Given the description of an element on the screen output the (x, y) to click on. 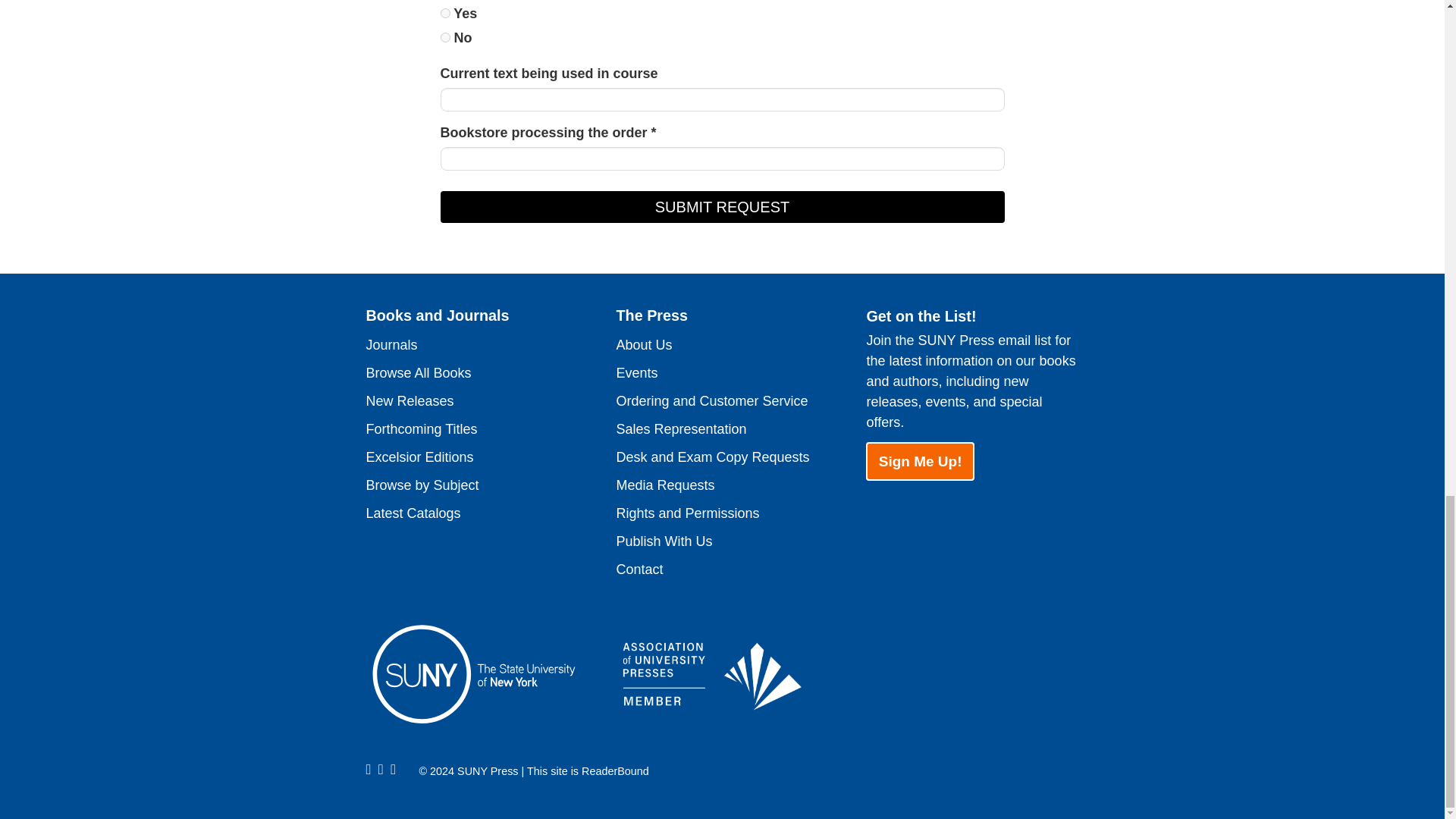
SUBMIT REQUEST (721, 206)
no (444, 37)
yes (444, 13)
